Given the description of an element on the screen output the (x, y) to click on. 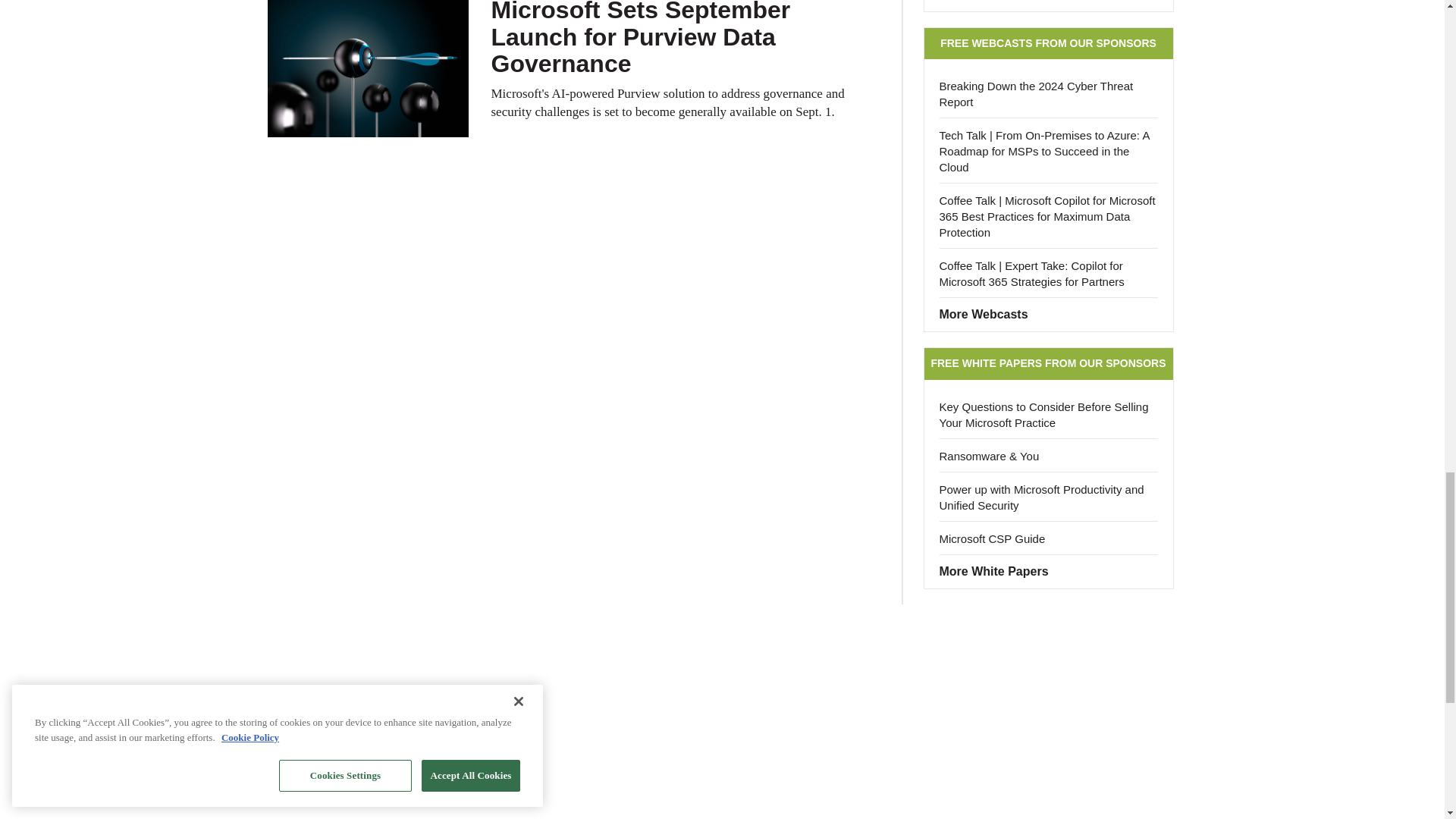
3rd party ad content (721, 755)
3rd party ad content (721, 657)
